Given the description of an element on the screen output the (x, y) to click on. 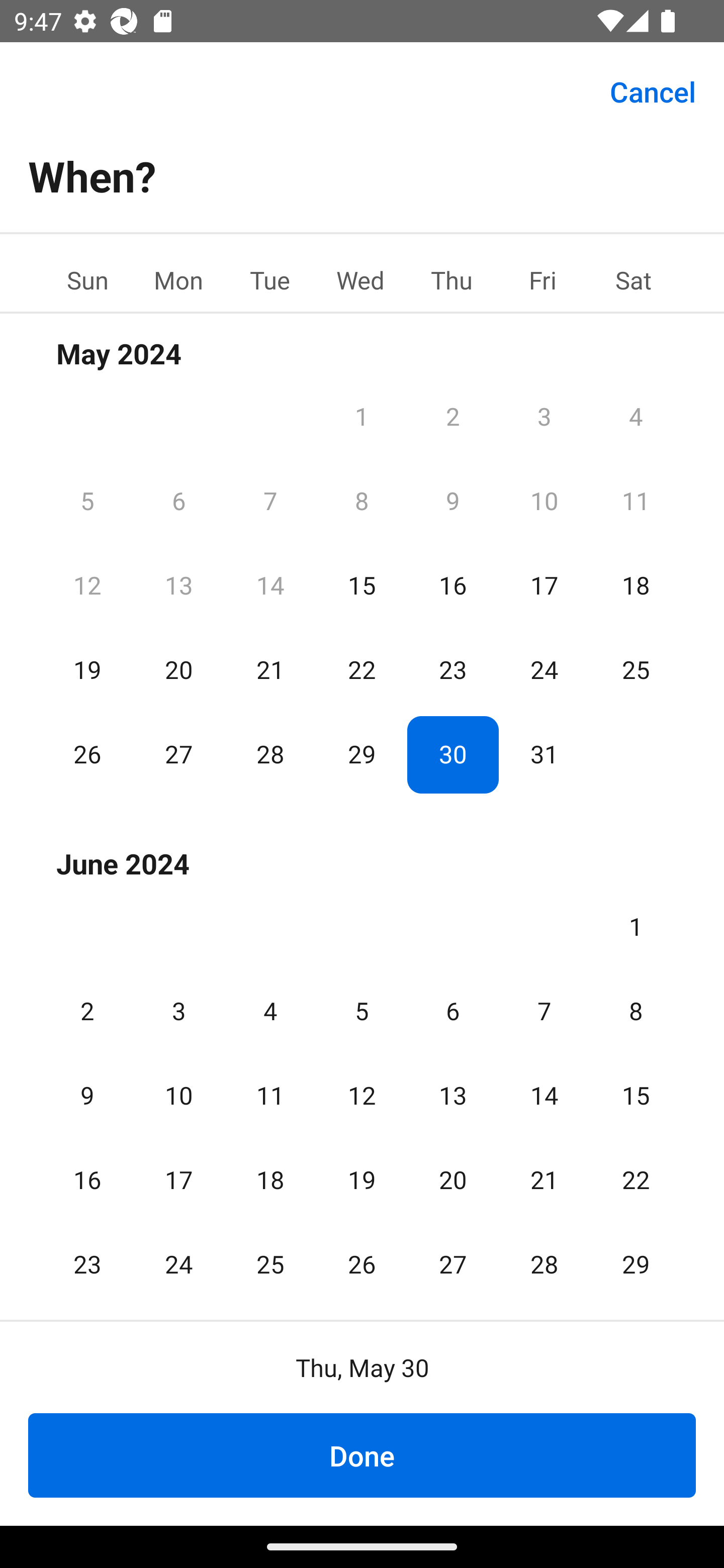
Cancel (652, 90)
Done (361, 1454)
